Given the description of an element on the screen output the (x, y) to click on. 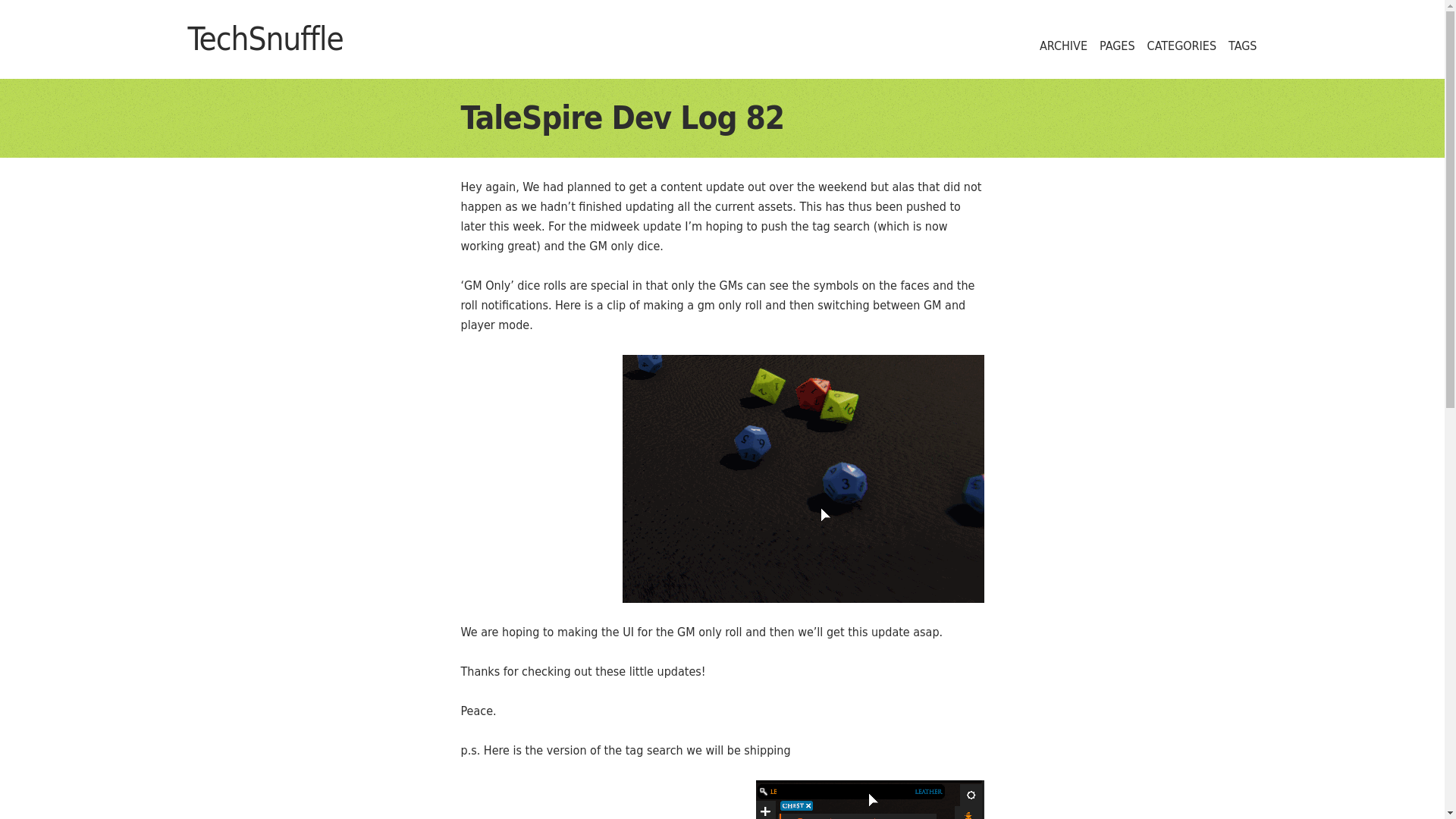
TechSnuffle (265, 38)
PAGES (1117, 45)
ARCHIVE (1063, 45)
CATEGORIES (1182, 45)
TAGS (1242, 45)
